Given the description of an element on the screen output the (x, y) to click on. 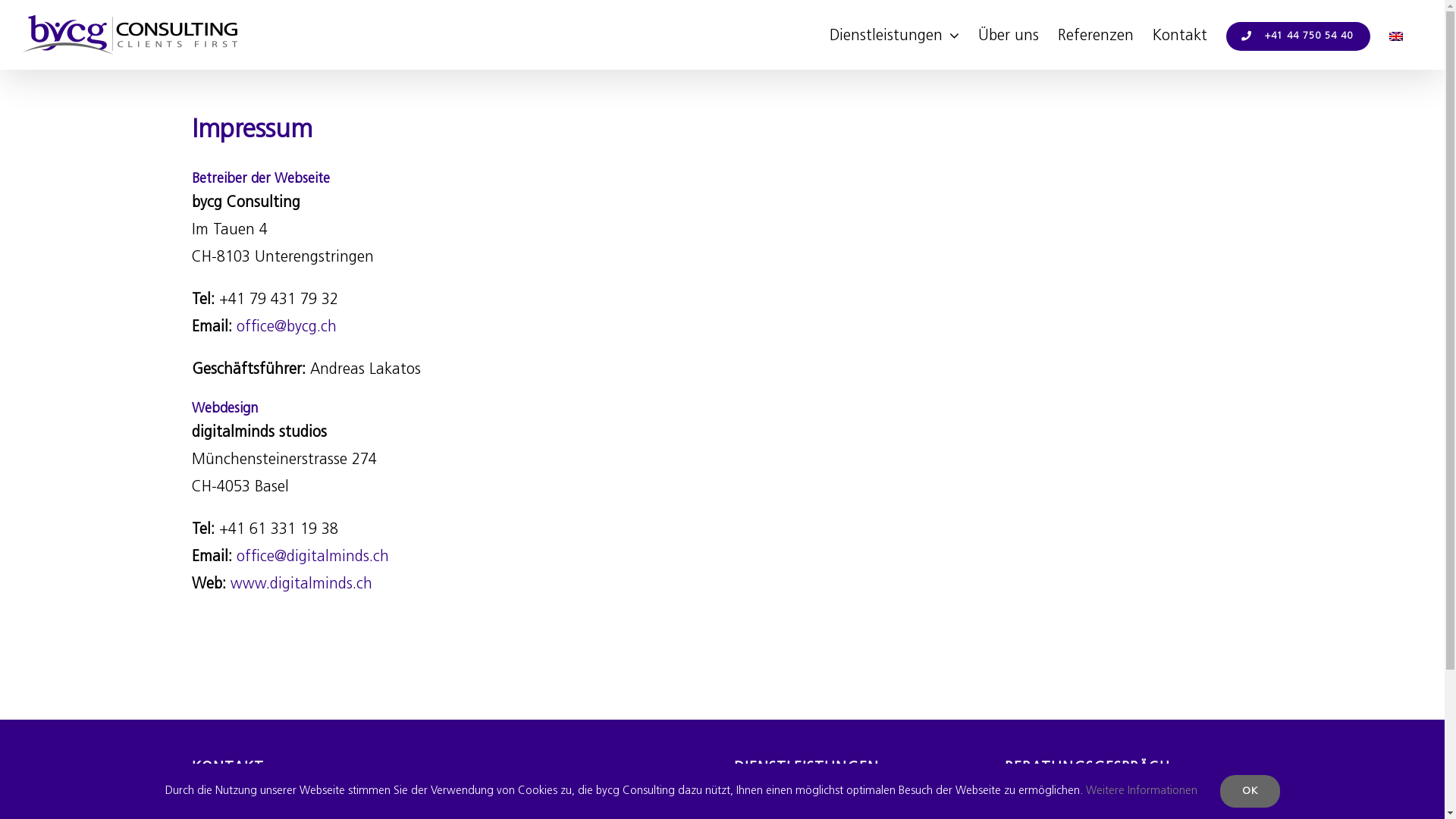
office@bycg.ch Element type: text (286, 327)
Weitere Informationen Element type: text (1141, 791)
OK Element type: text (1249, 791)
+41 44 750 54 40 Element type: text (1298, 34)
Kontakt Element type: text (1179, 34)
Dienstleistungen Element type: text (894, 34)
www.digitalminds.ch Element type: text (301, 584)
Referenzen Element type: text (1095, 34)
office@digitalminds.ch Element type: text (312, 556)
